Given the description of an element on the screen output the (x, y) to click on. 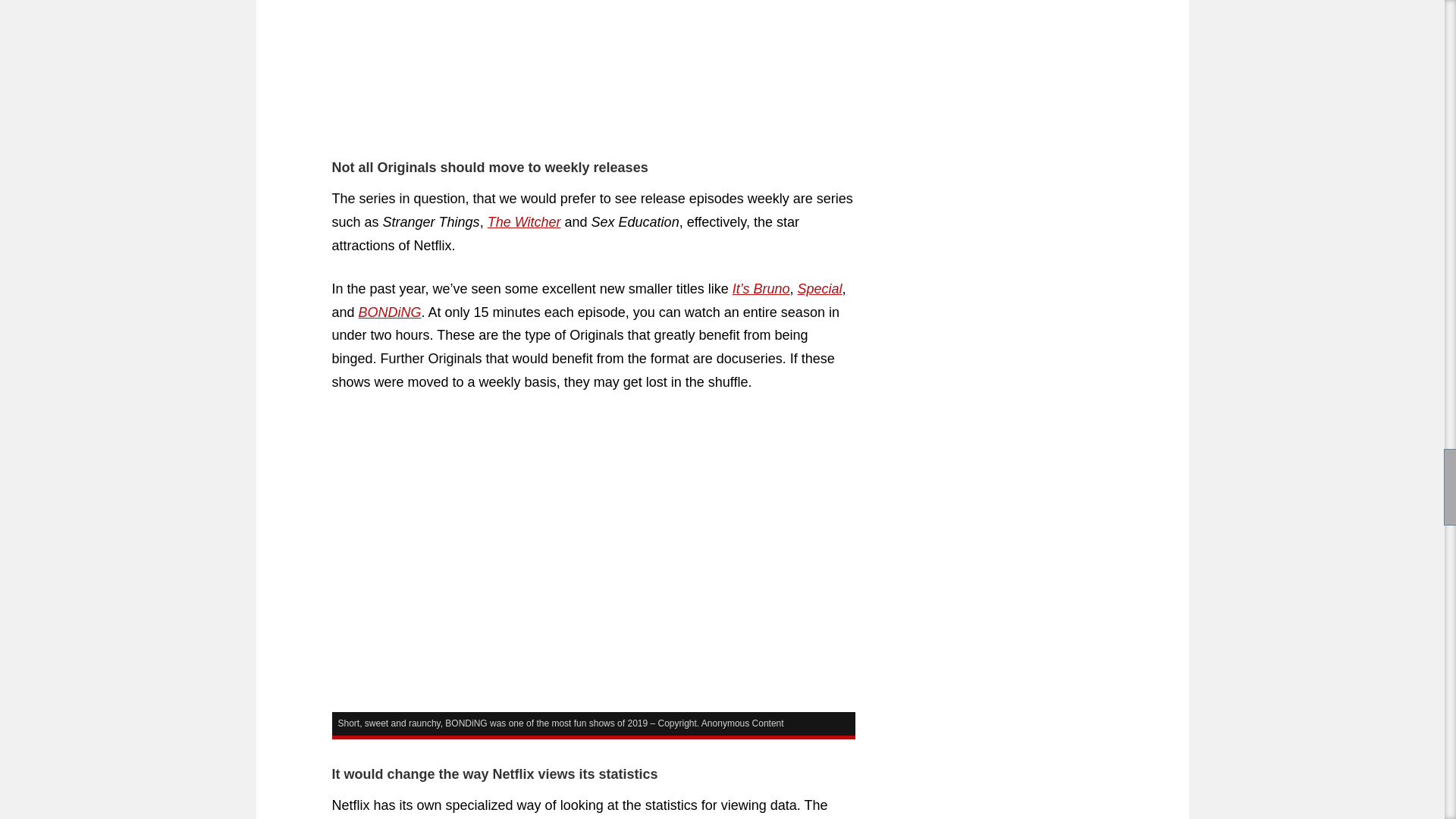
Special (818, 288)
Stranger Things Season 3 Cast Steve (593, 69)
BONDiNG (390, 312)
The Witcher (523, 222)
